Given the description of an element on the screen output the (x, y) to click on. 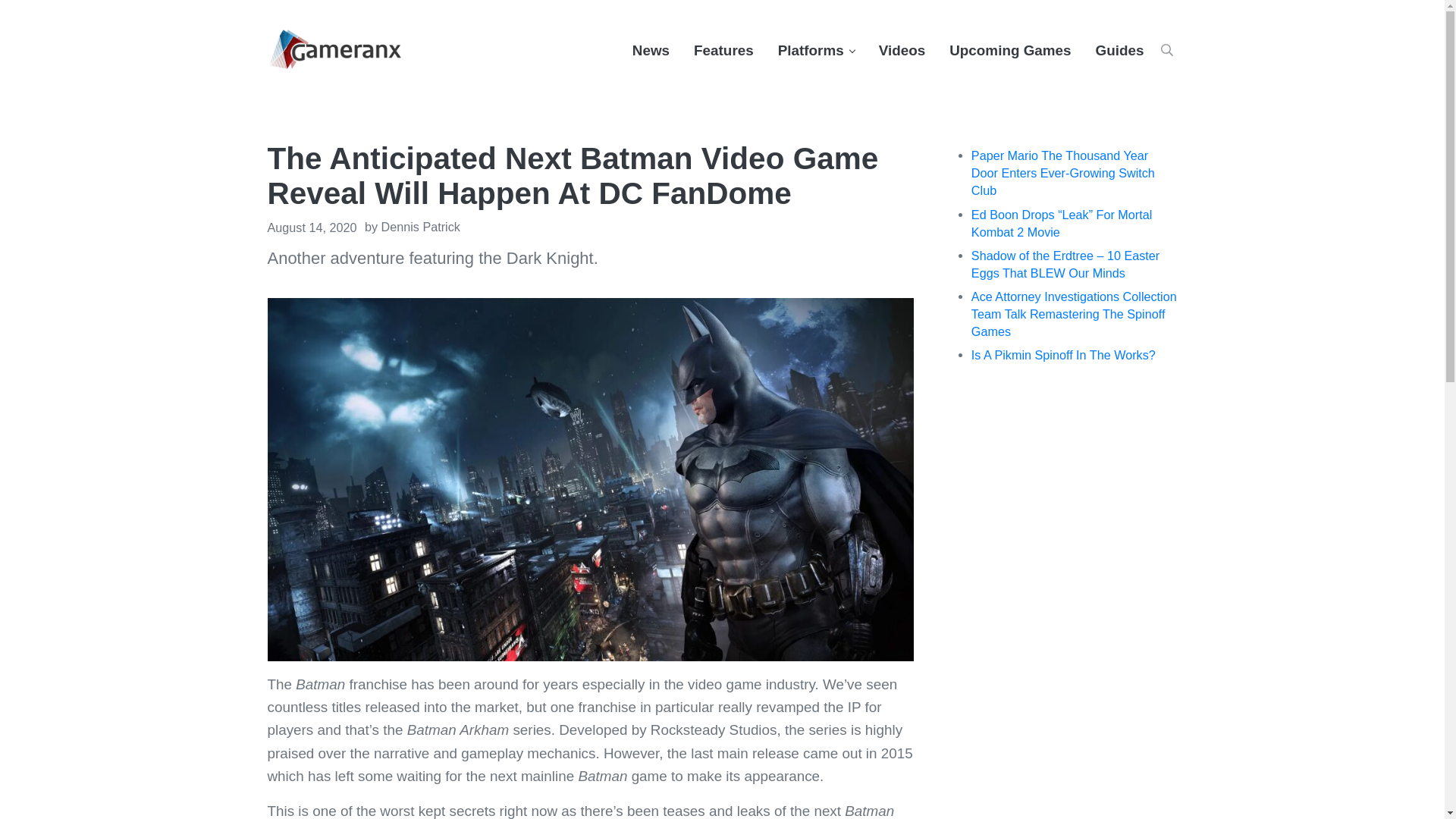
Platforms (815, 50)
Guides (1119, 50)
Videos (901, 50)
Upcoming Games (1010, 50)
News (650, 50)
Features (723, 50)
Dennis Patrick (420, 226)
